Given the description of an element on the screen output the (x, y) to click on. 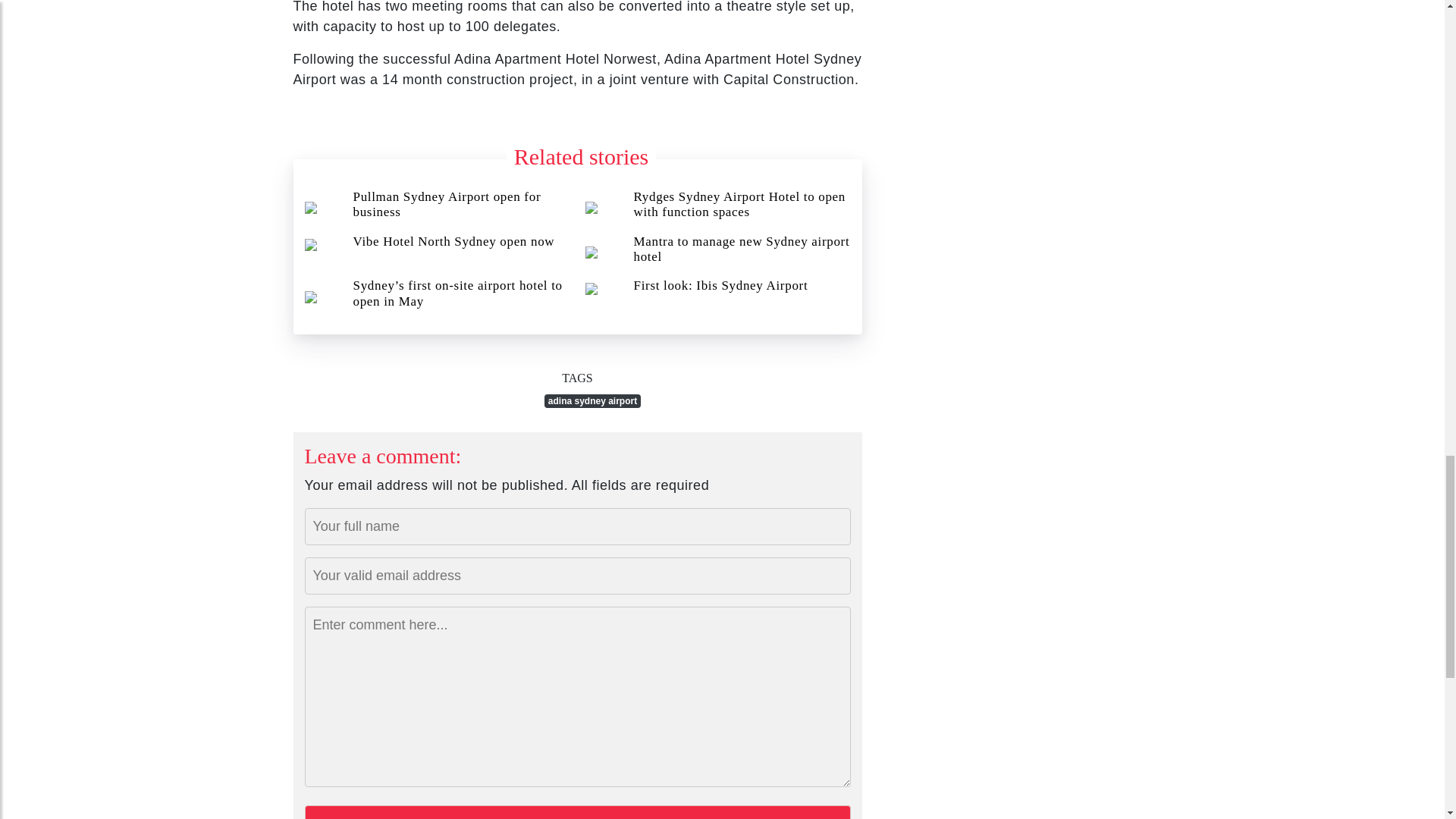
Post Comment (577, 812)
